Given the description of an element on the screen output the (x, y) to click on. 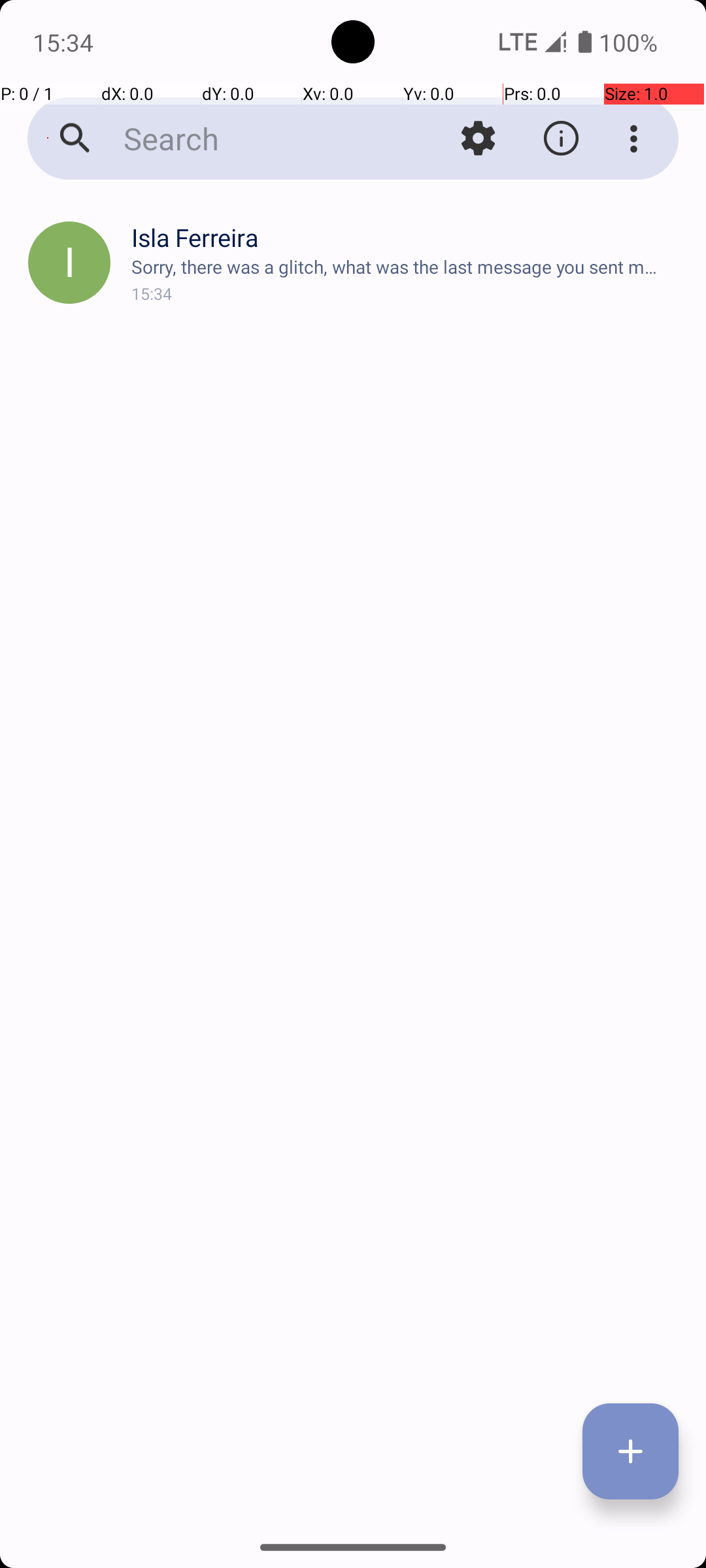
Isla Ferreira Element type: android.widget.TextView (408, 237)
